Given the description of an element on the screen output the (x, y) to click on. 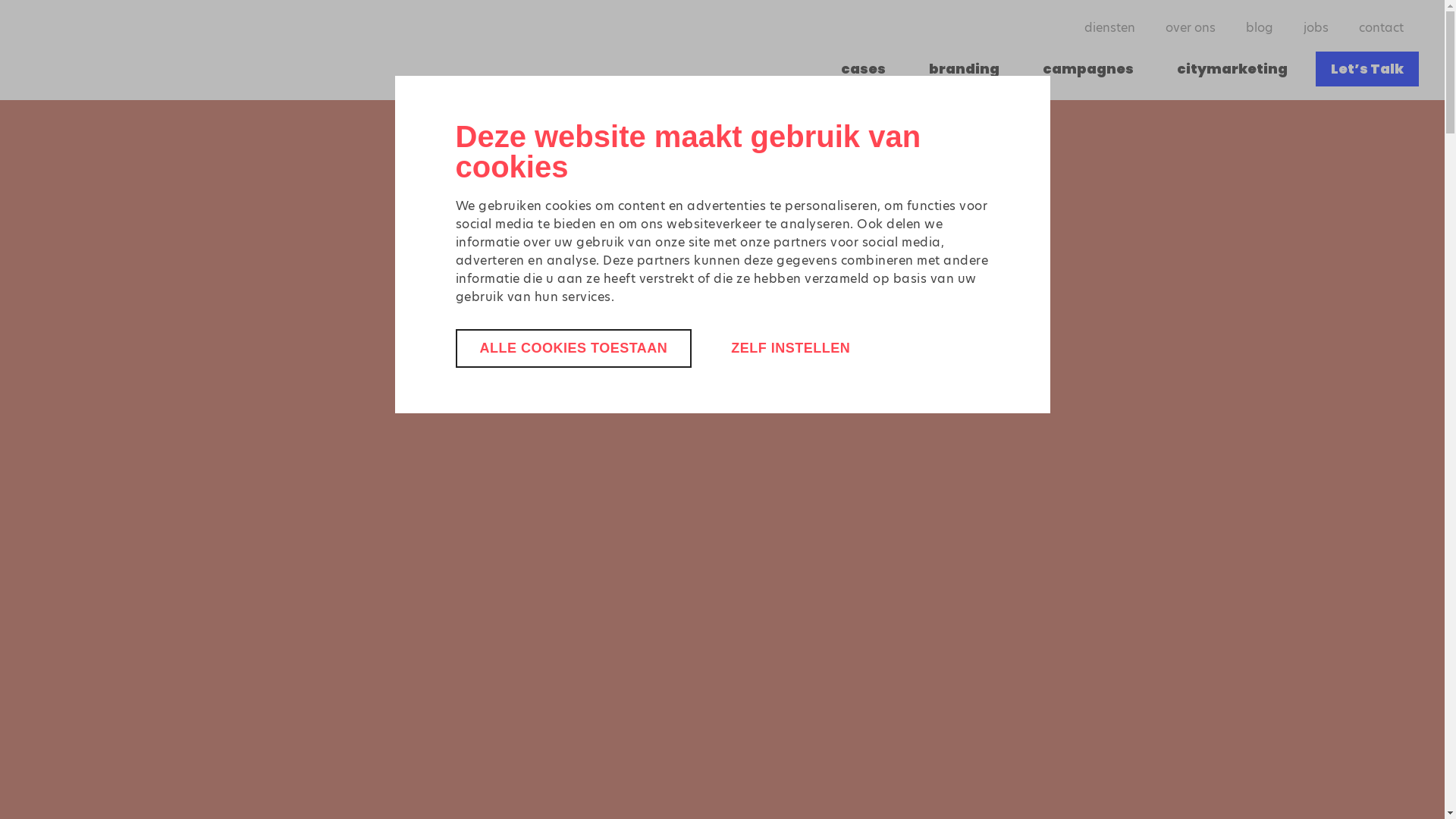
blog Element type: text (1259, 27)
ZELF INSTELLEN Element type: text (790, 348)
ALLE COOKIES TOESTAAN Element type: text (573, 348)
citymarketing Element type: text (1231, 68)
contact Element type: text (1380, 27)
jobs Element type: text (1315, 27)
diensten Element type: text (1109, 27)
branding Element type: text (963, 68)
cases Element type: text (862, 68)
over ons Element type: text (1190, 27)
campagnes Element type: text (1087, 68)
